Given the description of an element on the screen output the (x, y) to click on. 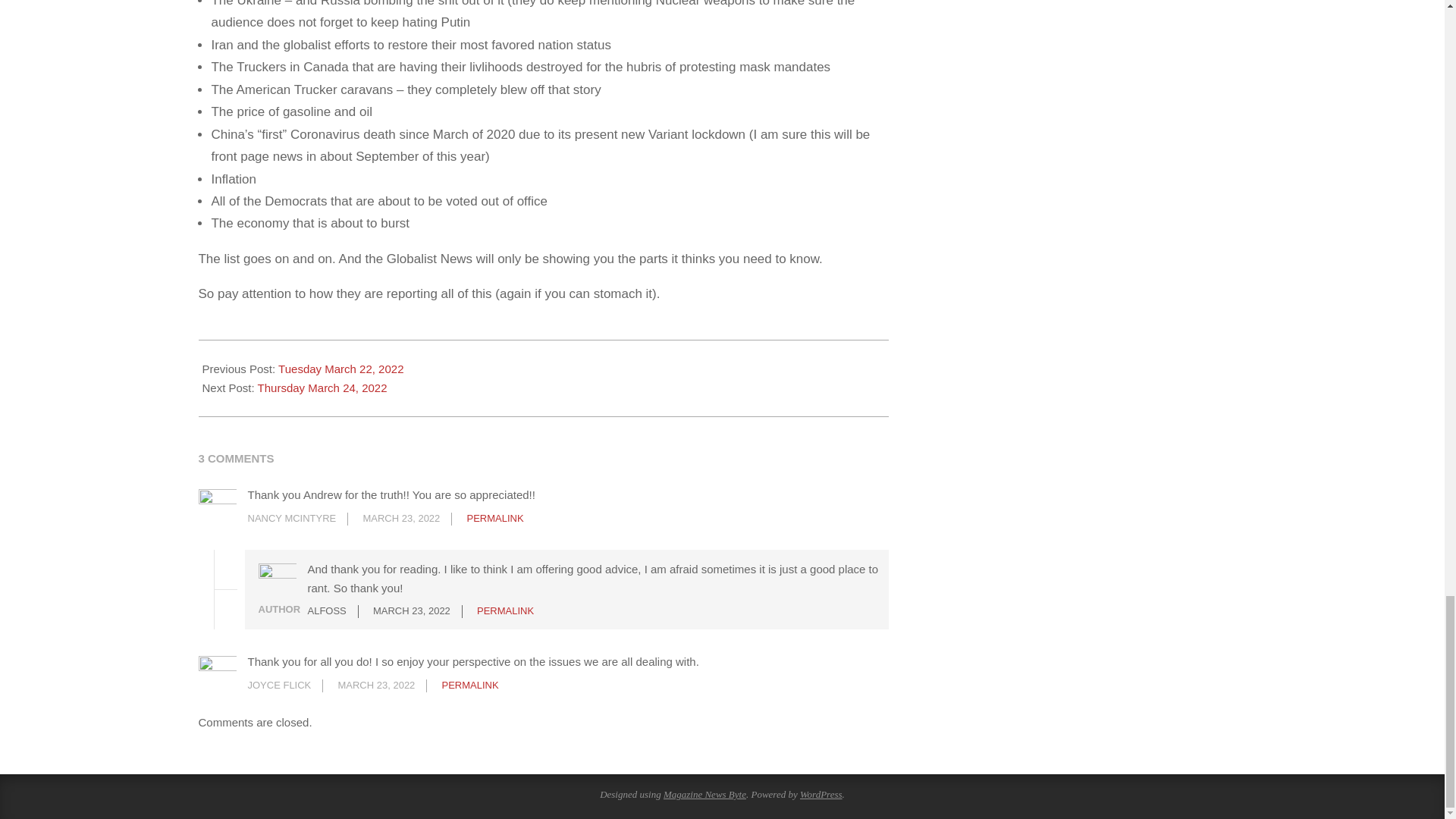
Wednesday, March 23, 2022, 1:47 pm (400, 518)
PERMALINK (495, 518)
Tuesday March 22, 2022 (340, 368)
Wednesday, March 23, 2022, 6:53 pm (375, 685)
Magazine News Byte WordPress Theme (704, 794)
Thursday March 24, 2022 (322, 387)
Wednesday, March 23, 2022, 4:41 pm (410, 610)
PERMALINK (470, 685)
PERMALINK (505, 610)
